Given the description of an element on the screen output the (x, y) to click on. 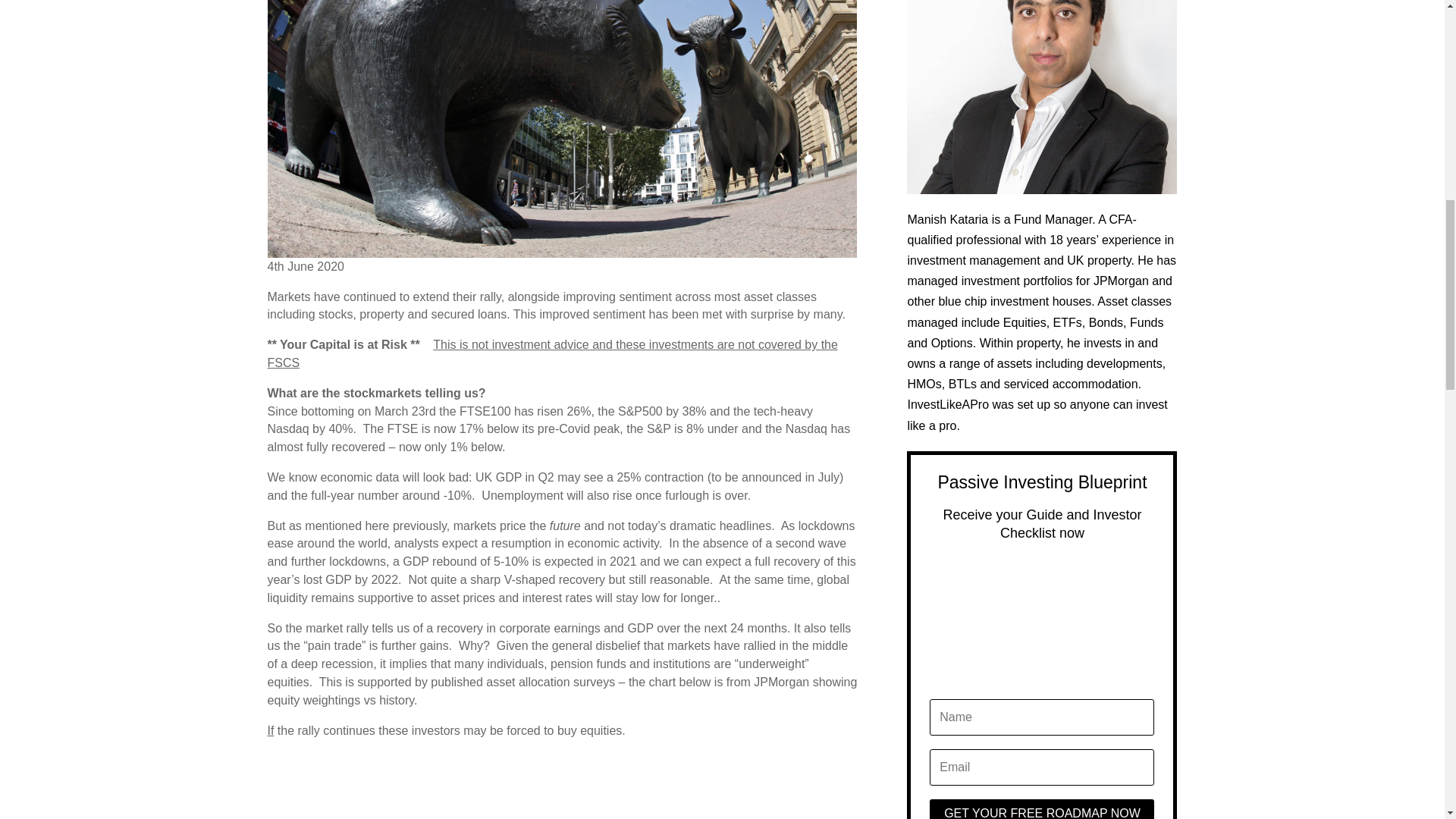
Manish K Portraits 01-07-17 OR2-2 (1041, 97)
GET YOUR FREE ROADMAP NOW (1042, 809)
